Given the description of an element on the screen output the (x, y) to click on. 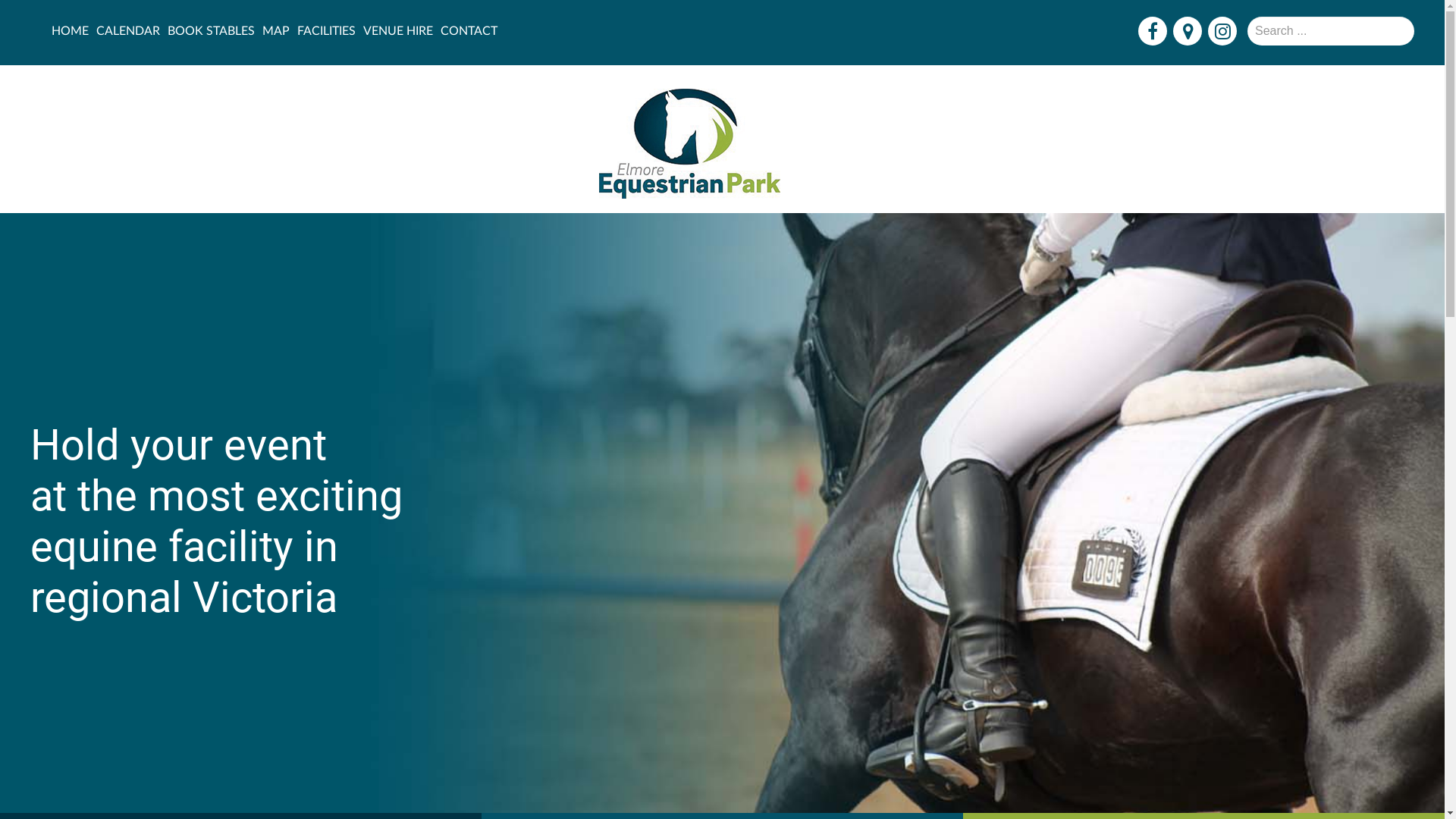
CALENDAR Element type: text (128, 31)
HOME Element type: text (69, 31)
MAP Element type: text (275, 31)
BOOK STABLES Element type: text (210, 31)
CONTACT Element type: text (468, 31)
FACILITIES Element type: text (326, 31)
VENUE HIRE Element type: text (398, 31)
